Given the description of an element on the screen output the (x, y) to click on. 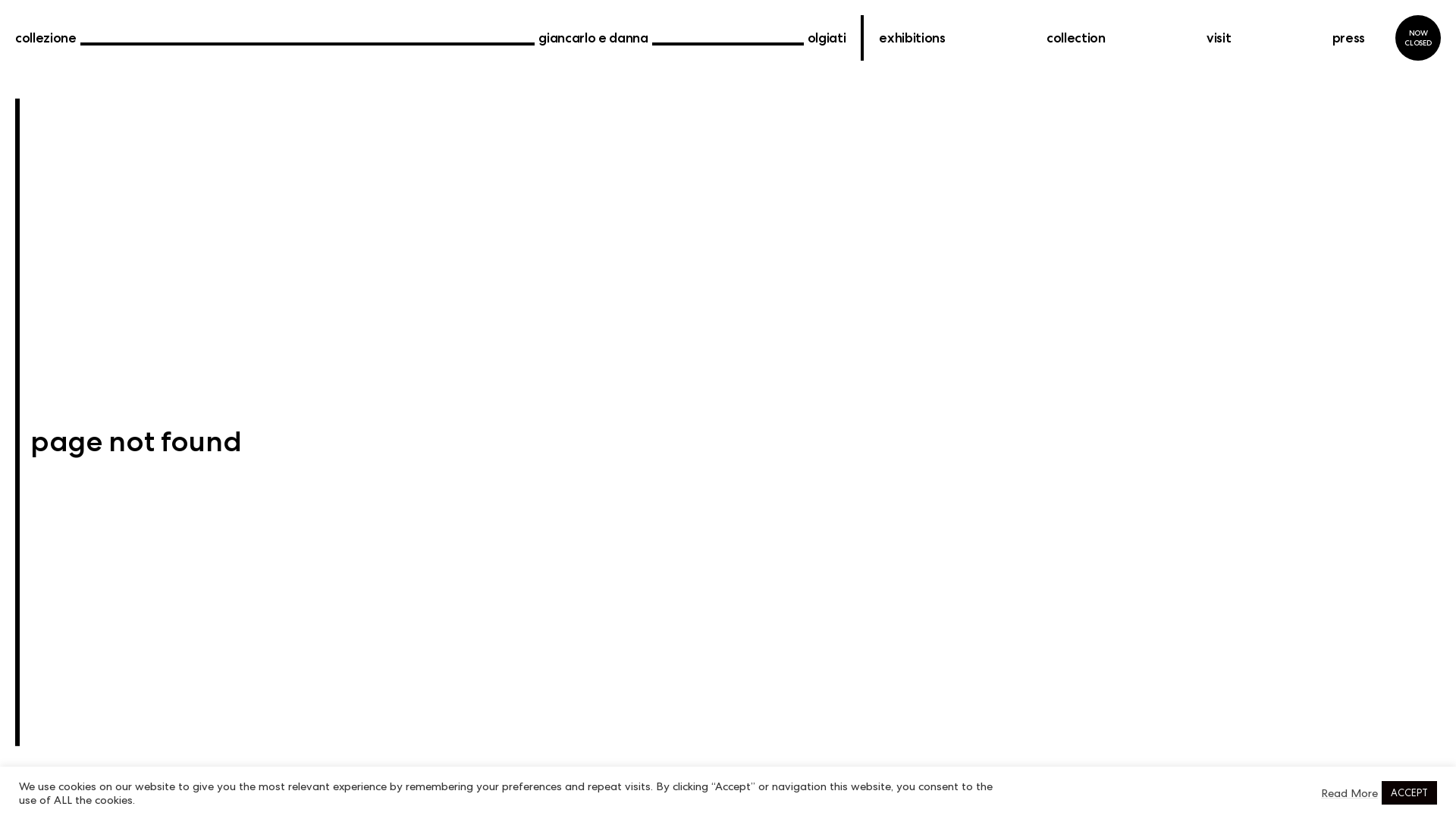
exhibitions Element type: text (911, 37)
visit Element type: text (1218, 37)
collection Element type: text (1075, 37)
collezione
giancarlo e danna
olgiati Element type: text (430, 37)
press Element type: text (1348, 37)
NOW CLOSED Element type: text (1417, 37)
Read More Element type: text (1349, 792)
ACCEPT Element type: text (1409, 792)
